Given the description of an element on the screen output the (x, y) to click on. 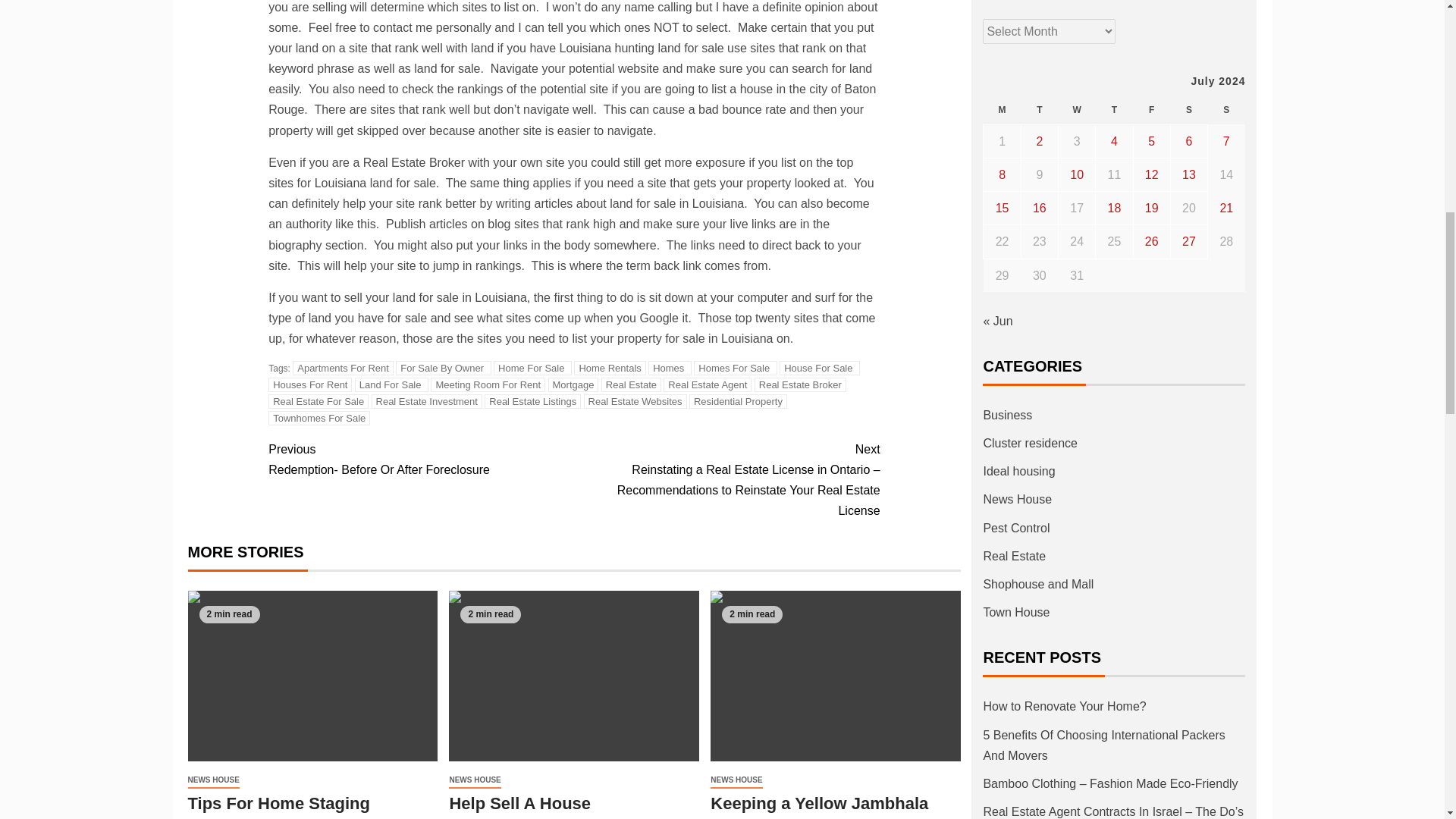
House For Sale  (819, 368)
Tips For Home Staging (312, 675)
Homes  (669, 368)
Mortgage (573, 384)
Homes For Sale  (735, 368)
For Sale By Owner  (443, 368)
Houses For Rent (309, 384)
Apartments For Rent (342, 368)
Home Rentals (609, 368)
Help Sell A House (573, 675)
Saturday (1188, 110)
Real Estate (631, 384)
Home For Sale  (532, 368)
Wednesday (1077, 110)
Monday (1002, 110)
